Given the description of an element on the screen output the (x, y) to click on. 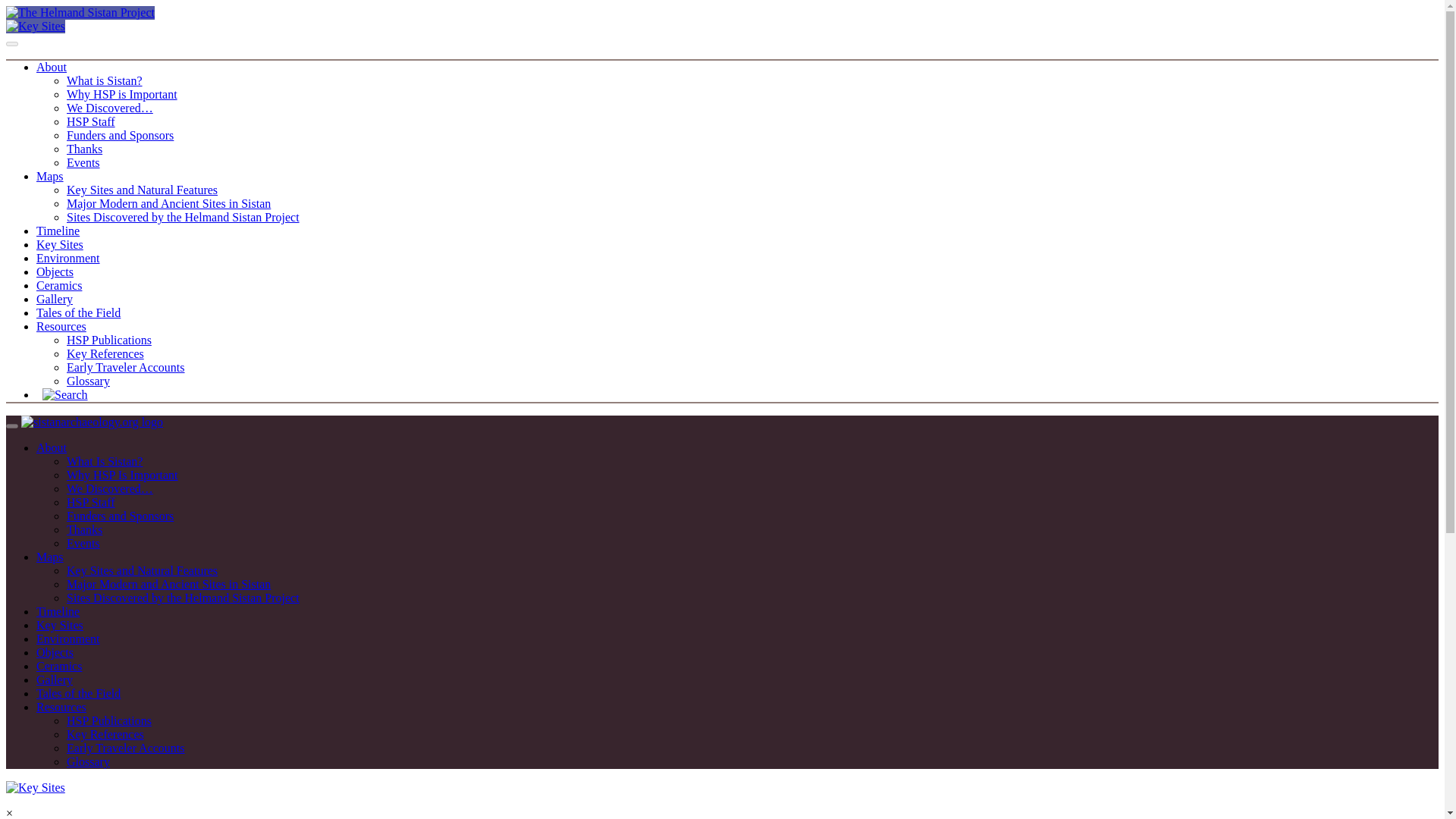
What is Sistan? (104, 80)
Temple 215 (35, 25)
Sites Discovered by the Helmand Sistan Project (182, 216)
Resources (60, 326)
HSP Staff (90, 502)
Home (92, 421)
Home (79, 11)
Events (83, 543)
Thanks (83, 148)
Major Modern and Ancient Sites in Sistan (168, 203)
